Given the description of an element on the screen output the (x, y) to click on. 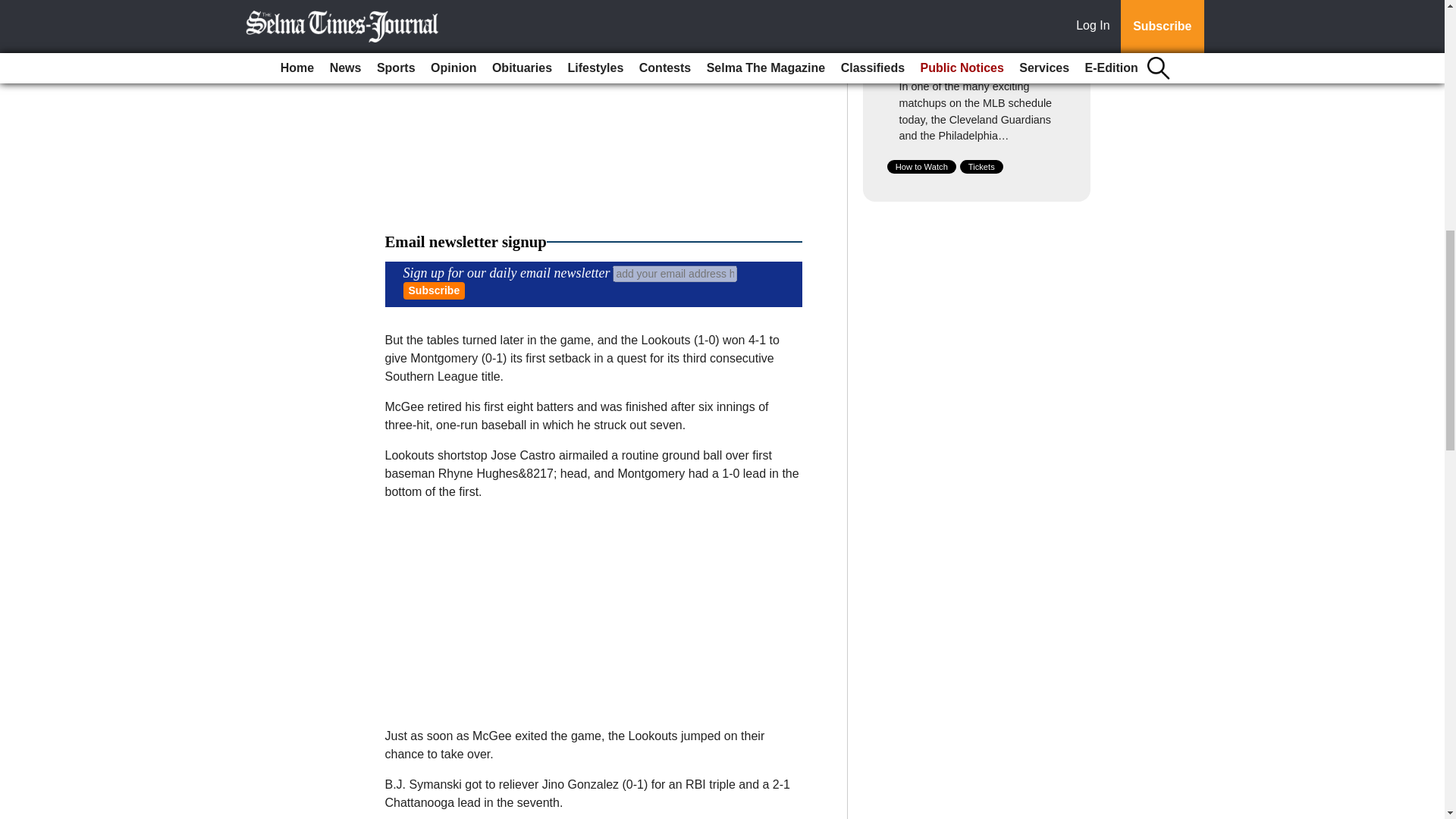
Subscribe (434, 290)
How to Watch (921, 166)
Tickets (981, 166)
Subscribe (434, 290)
